Given the description of an element on the screen output the (x, y) to click on. 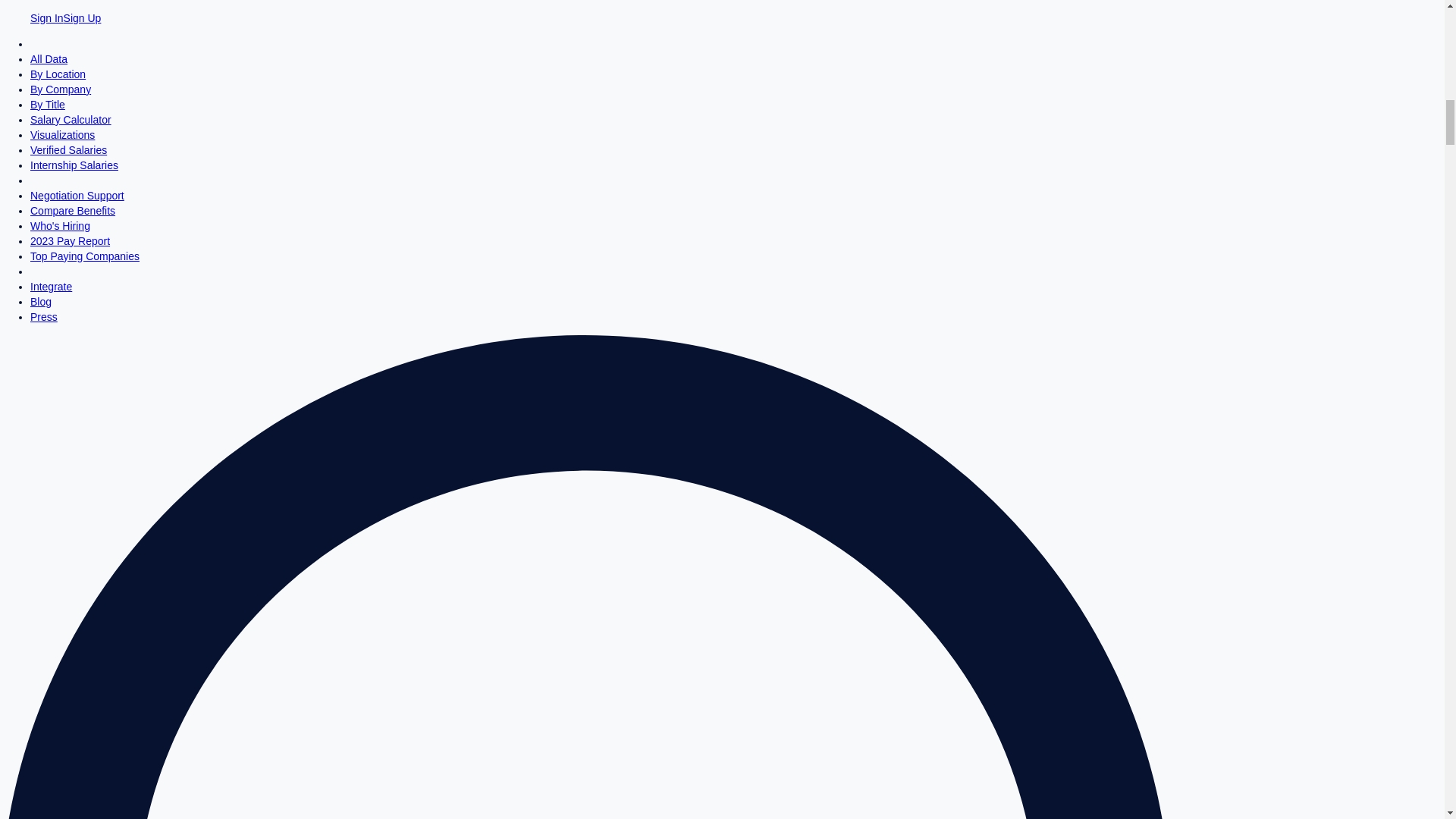
Sign Up (82, 18)
Negotiation Support (76, 195)
Top Paying Companies (84, 256)
All Data (48, 59)
2023 Pay Report (70, 241)
Sign In (47, 18)
Verified Salaries (68, 150)
Compare Benefits (72, 210)
Blog (40, 301)
Internship Salaries (73, 164)
By Company (60, 89)
Visualizations (62, 134)
Salary Calculator (71, 119)
Who's Hiring (60, 225)
By Title (47, 104)
